Given the description of an element on the screen output the (x, y) to click on. 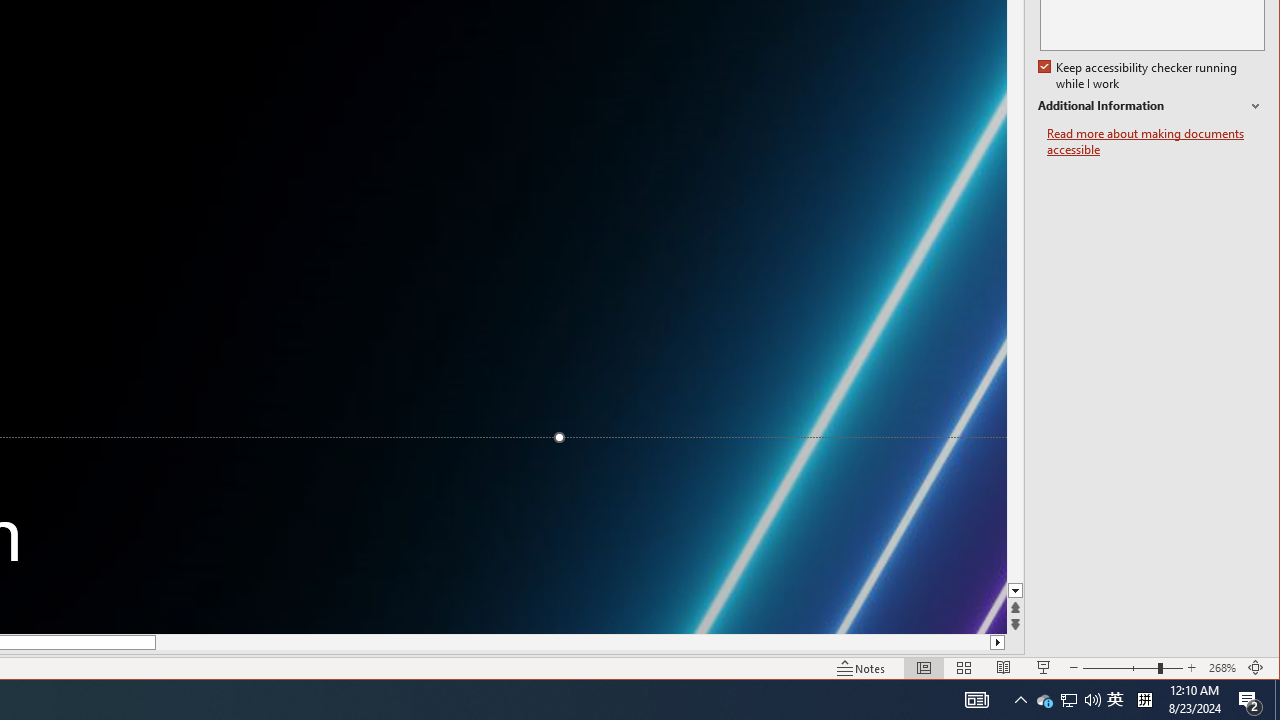
Zoom 268% (1222, 668)
